Given the description of an element on the screen output the (x, y) to click on. 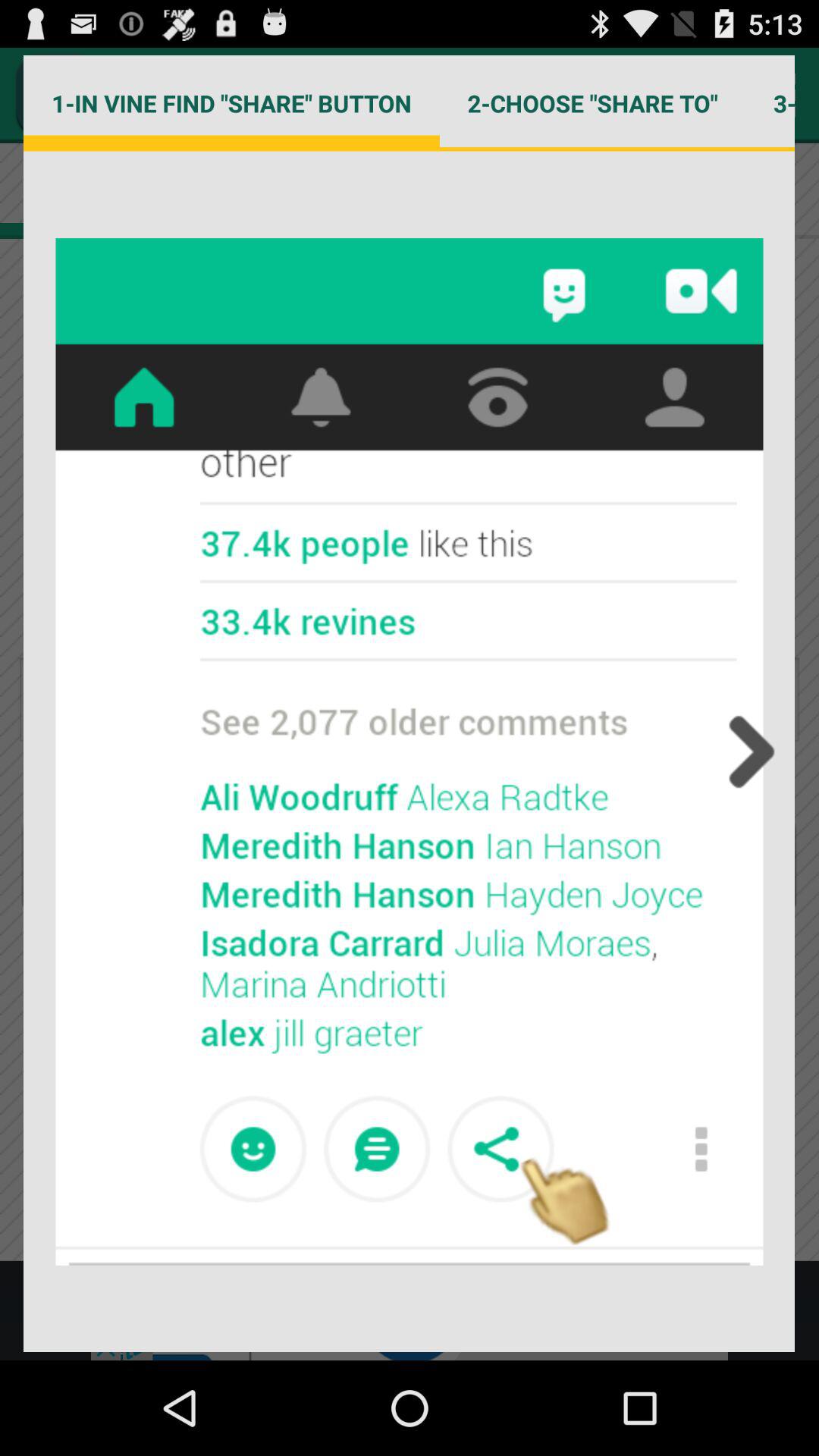
flip to 3-choose vdownloadr (770, 103)
